Given the description of an element on the screen output the (x, y) to click on. 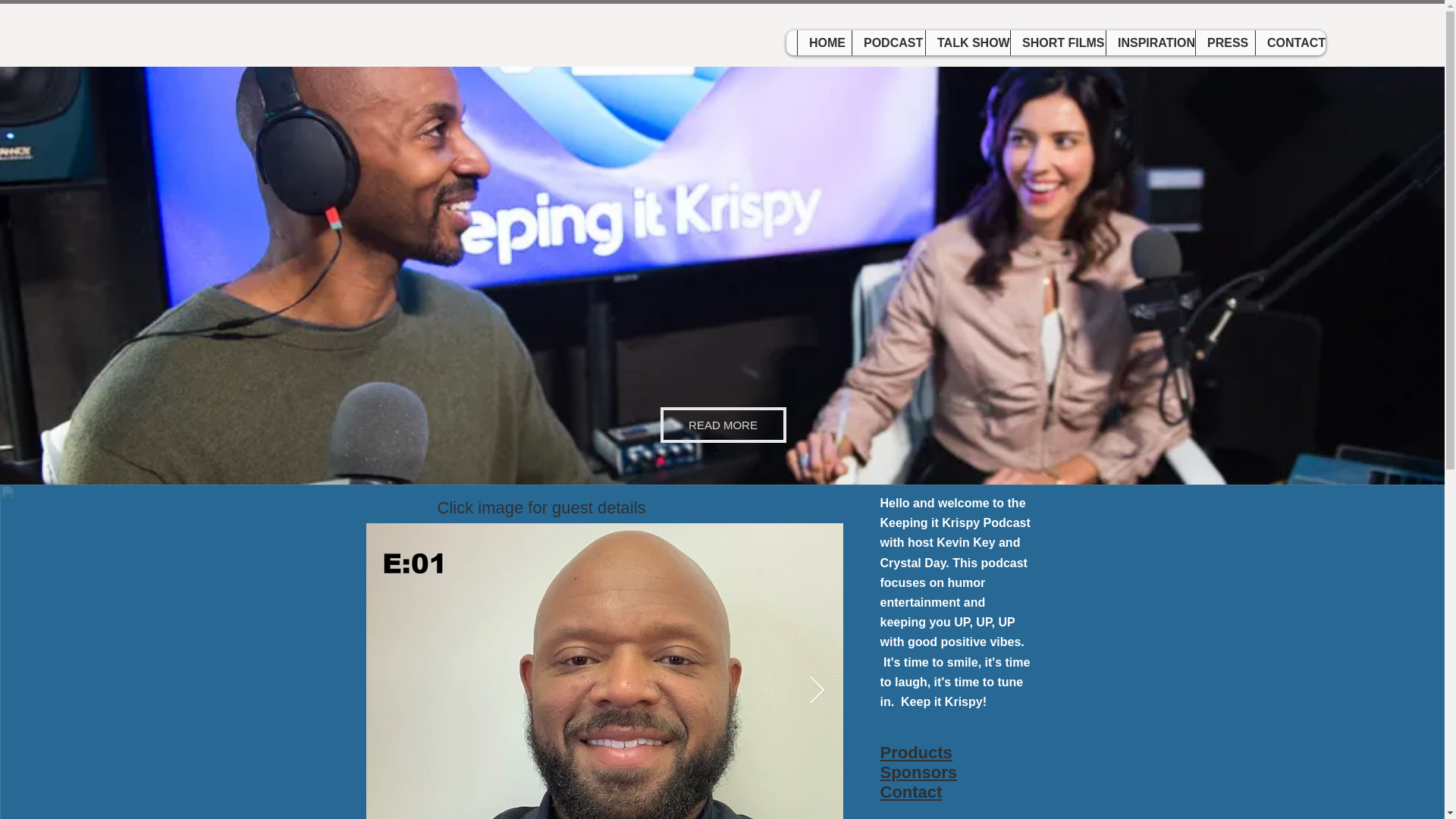
Sponsors (917, 772)
PODCAST (887, 42)
HOME (823, 42)
SHORT FILMS (1057, 42)
Contact (910, 791)
PRESS (1225, 42)
READ MORE (722, 425)
CONTACT (1289, 42)
Products (915, 752)
TALK SHOW (967, 42)
